Given the description of an element on the screen output the (x, y) to click on. 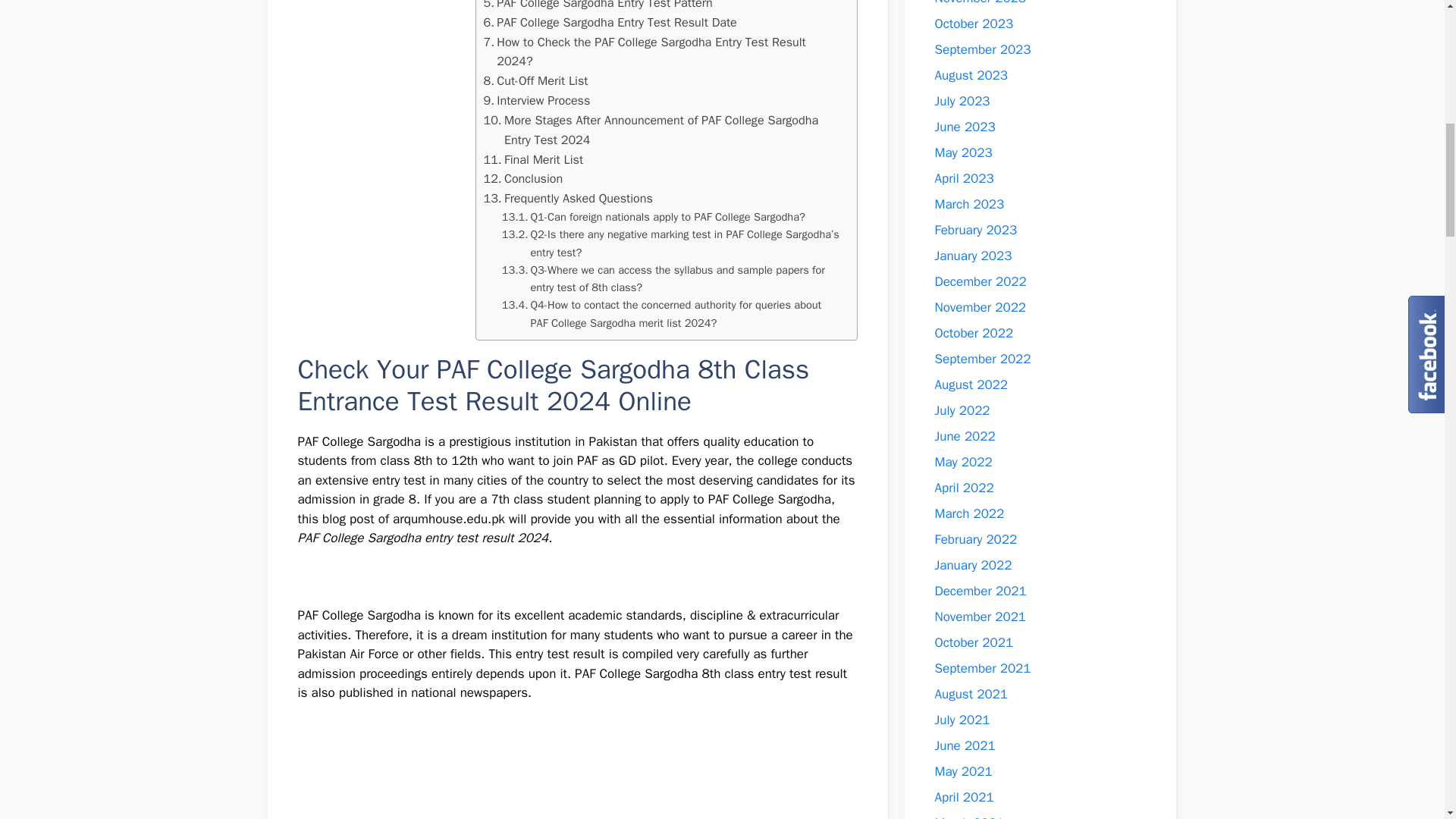
Interview Process (537, 100)
PAF College Sargodha Entry Test Pattern (598, 6)
Conclusion (523, 178)
PAF College Sargodha Entry Test Result Date (609, 22)
Cut-Off Merit List (535, 80)
Final Merit List (533, 159)
Frequently Asked Questions (567, 198)
